Given the description of an element on the screen output the (x, y) to click on. 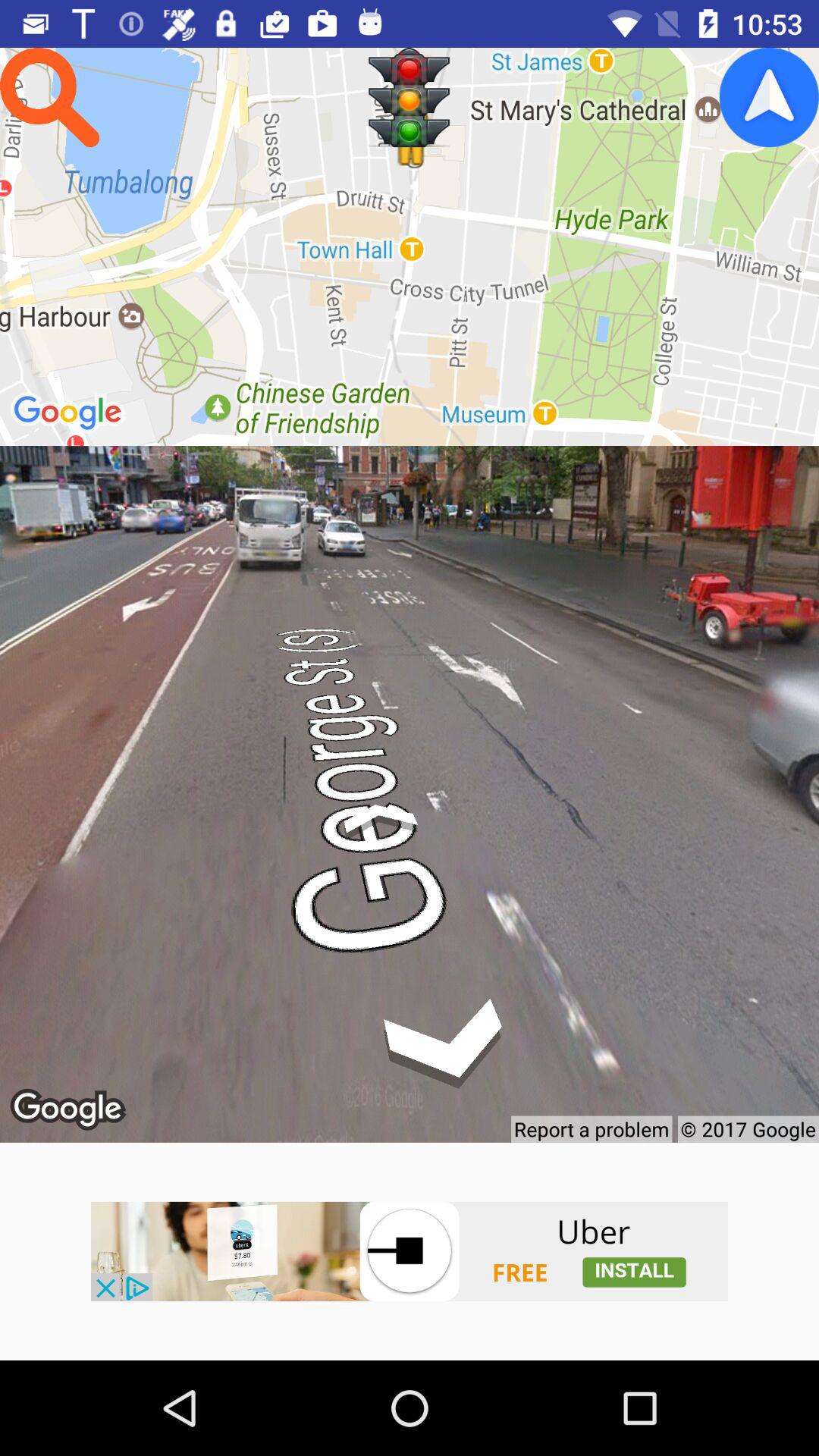
google icon (769, 97)
